Given the description of an element on the screen output the (x, y) to click on. 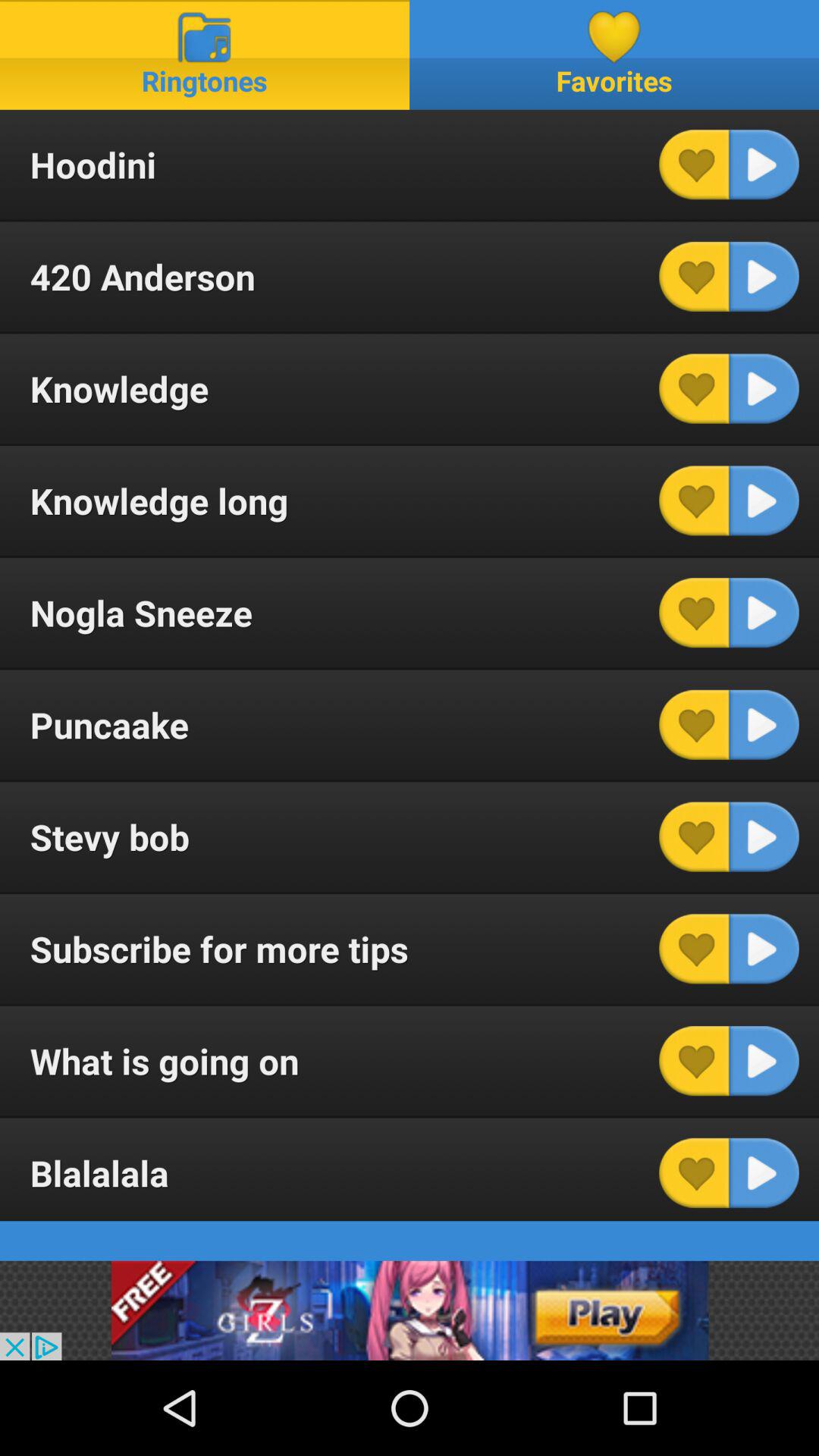
favorite (694, 276)
